Given the description of an element on the screen output the (x, y) to click on. 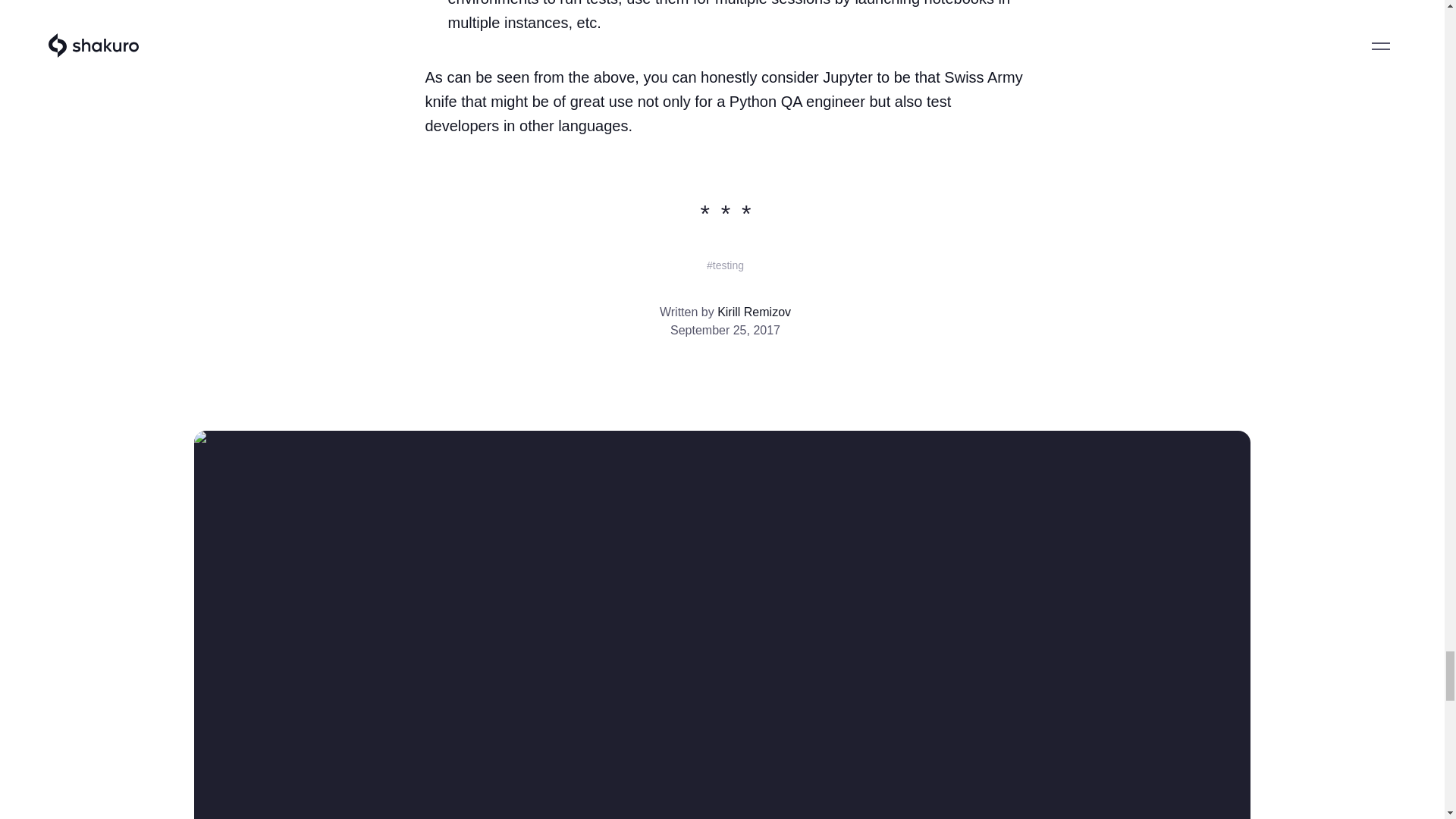
testing (725, 265)
Kirill Remizov (753, 311)
